Given the description of an element on the screen output the (x, y) to click on. 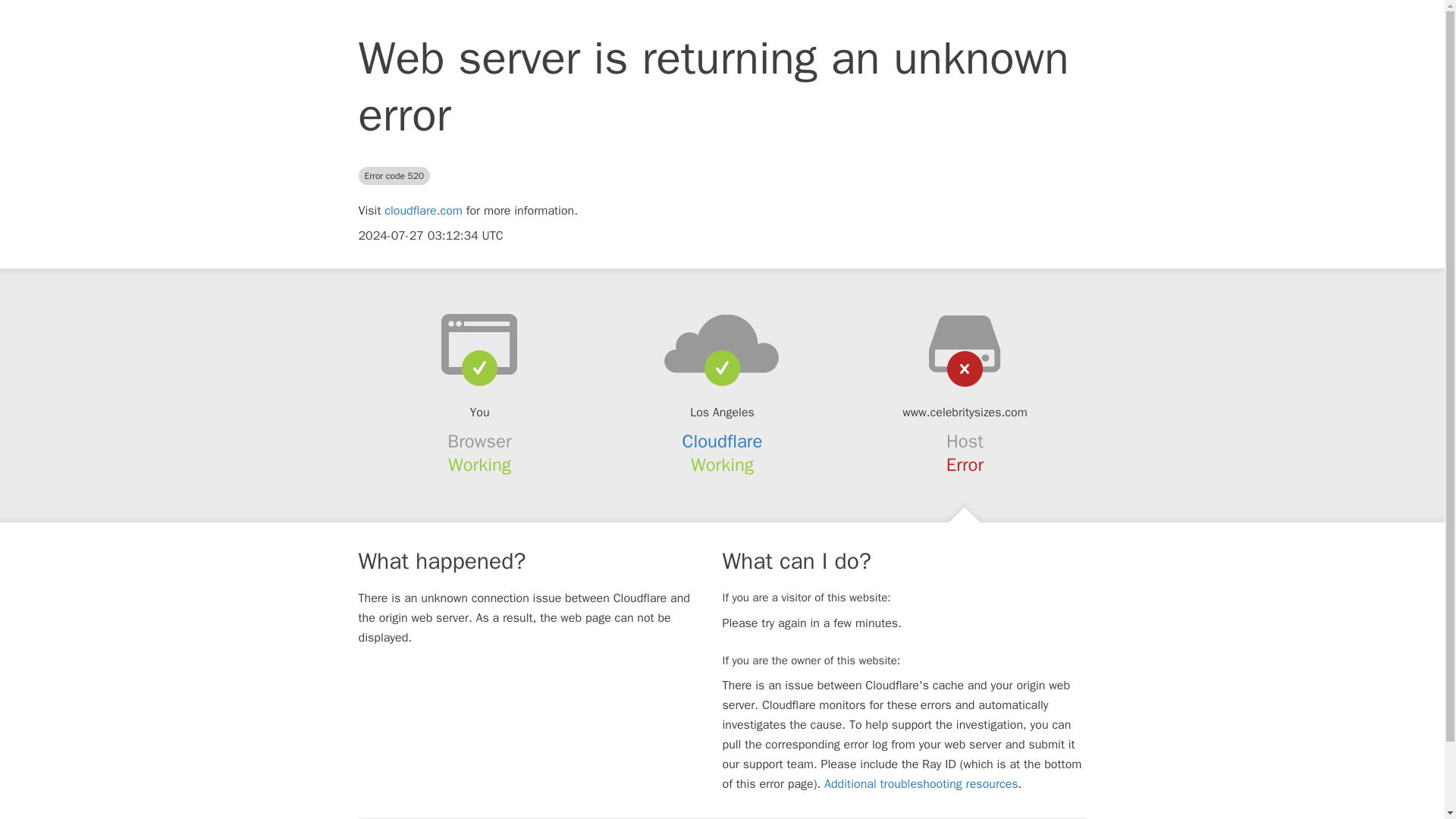
cloudflare.com (423, 210)
Cloudflare (722, 440)
Additional troubleshooting resources (920, 783)
